Given the description of an element on the screen output the (x, y) to click on. 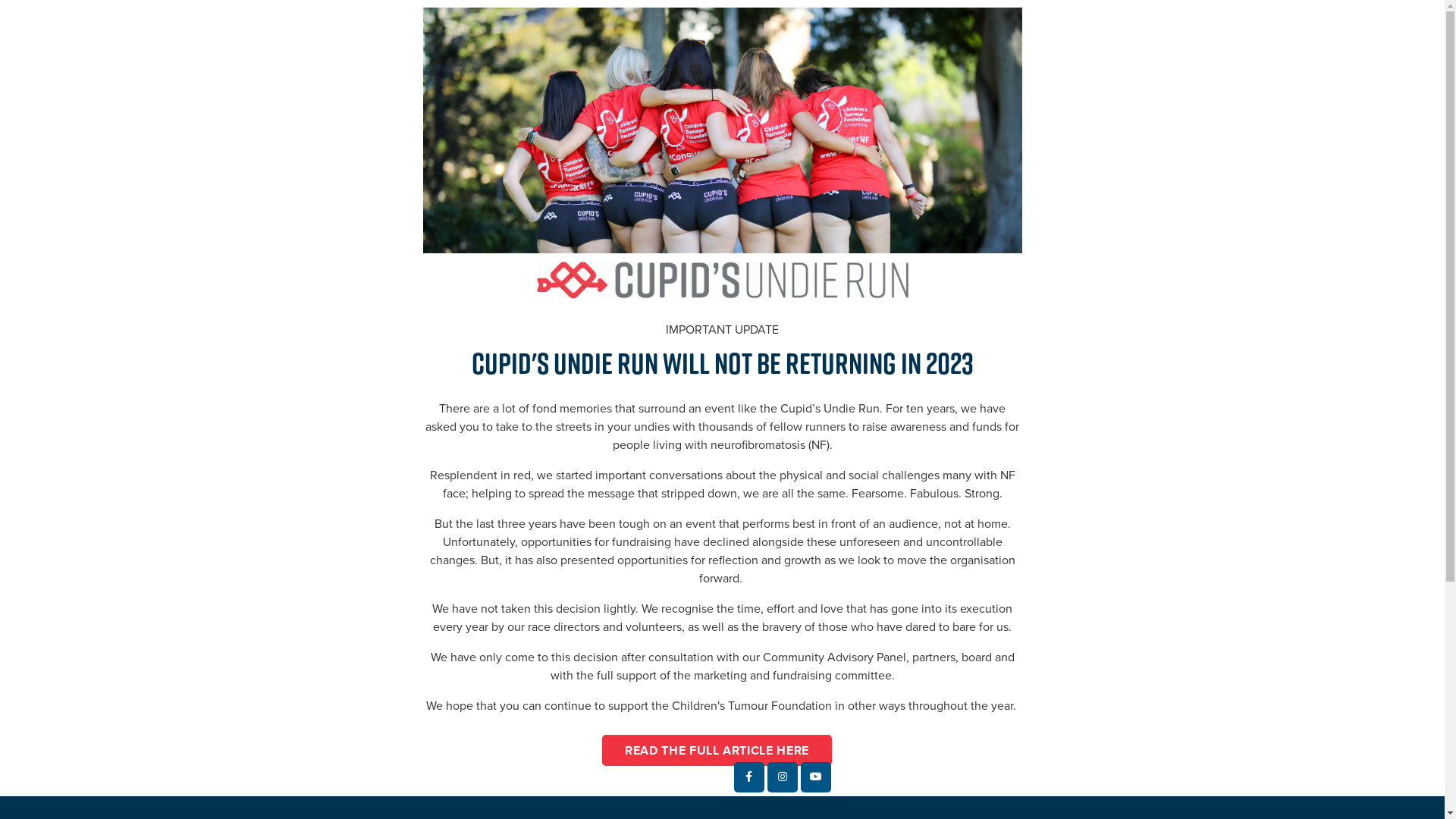
READ THE FULL ARTICLE HERE Element type: text (716, 749)
